Given the description of an element on the screen output the (x, y) to click on. 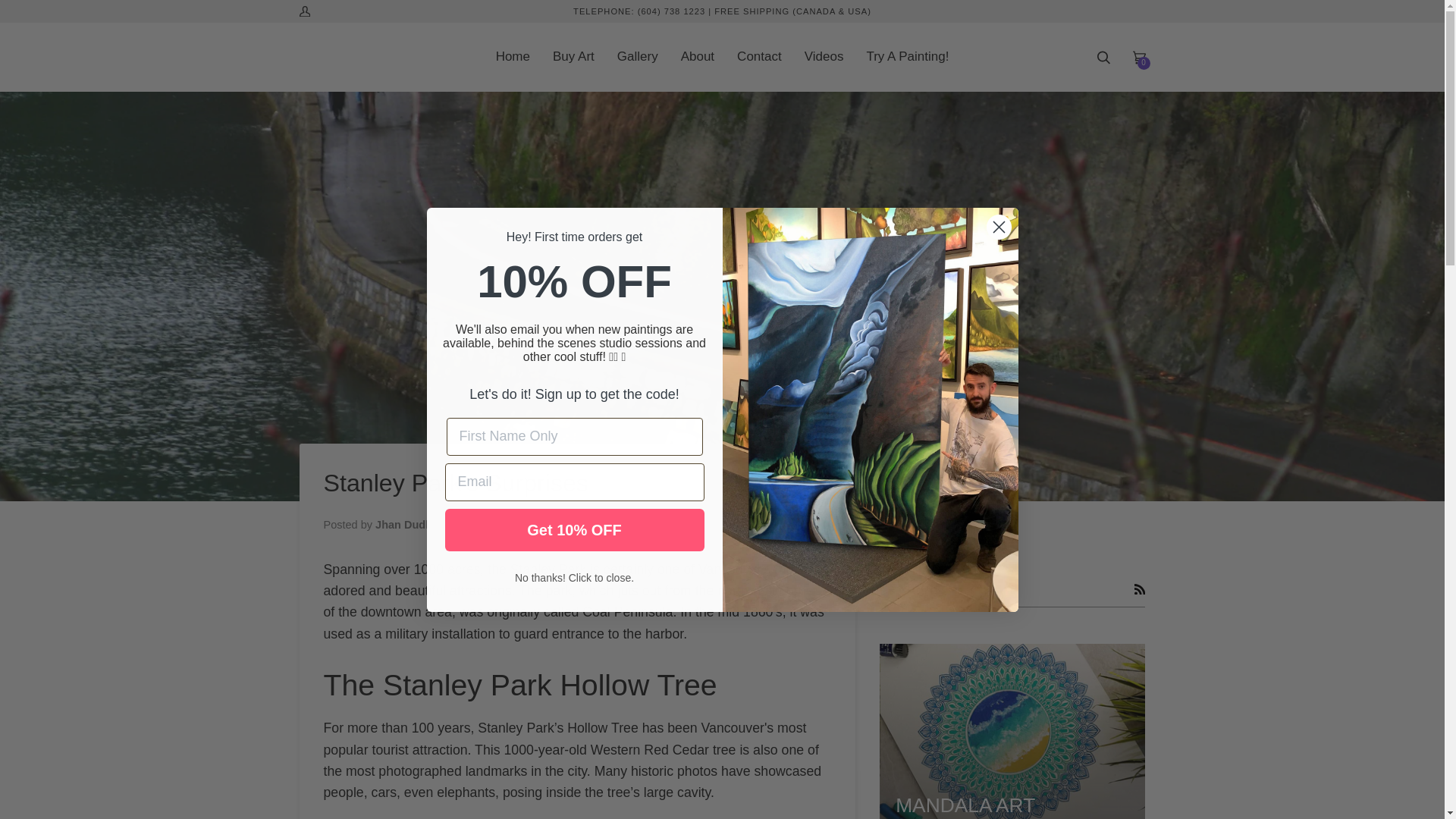
Gallery (637, 56)
Videos (824, 56)
Buy Art (573, 56)
Contact (759, 56)
Try A Painting! (906, 56)
